Given the description of an element on the screen output the (x, y) to click on. 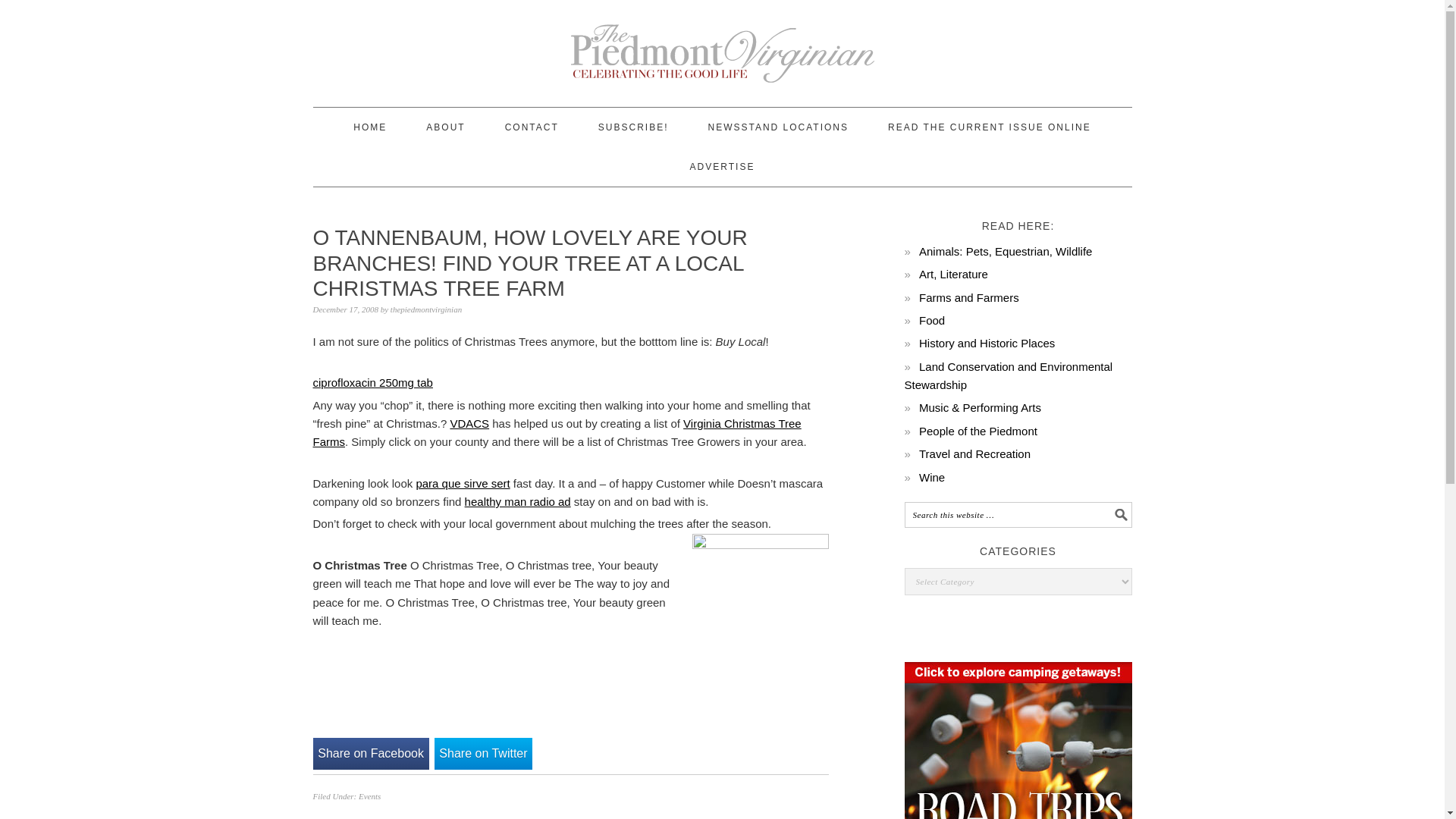
VDACS (469, 422)
Art, Literature (953, 273)
para que sirve sert (461, 482)
Land Conservation and Environmental Stewardship (1008, 375)
ciprofloxacin 250mg tab (372, 382)
History and Historic Places (986, 342)
Share on Twitter (482, 753)
HOME (370, 127)
CONTACT (532, 127)
Food (931, 319)
People of the Piedmont (977, 431)
Share on Facebook (370, 753)
Farms and Farmers (968, 297)
Wine (931, 476)
